Given the description of an element on the screen output the (x, y) to click on. 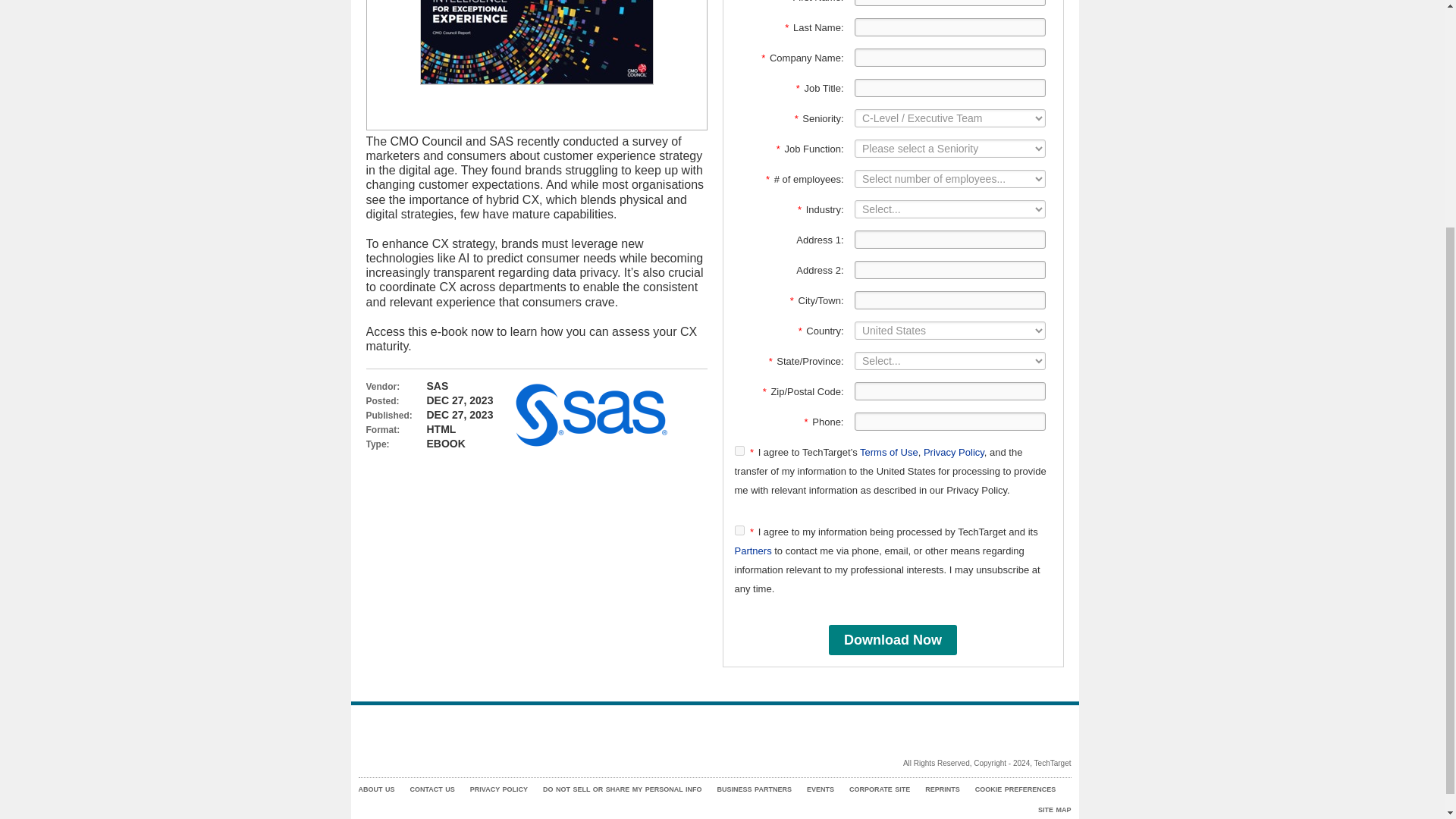
PRIVACY POLICY (498, 789)
ABOUT US (376, 789)
BUSINESS PARTNERS (754, 789)
CONTACT US (431, 789)
DO NOT SELL OR SHARE MY PERSONAL INFO (622, 789)
Privacy Policy (953, 451)
Download Now (892, 639)
Partners (752, 550)
EVENTS (820, 789)
Download Now (892, 639)
CORPORATE SITE (879, 789)
REPRINTS (941, 789)
Terms of Use (889, 451)
SITE MAP (1054, 809)
true (738, 530)
